Given the description of an element on the screen output the (x, y) to click on. 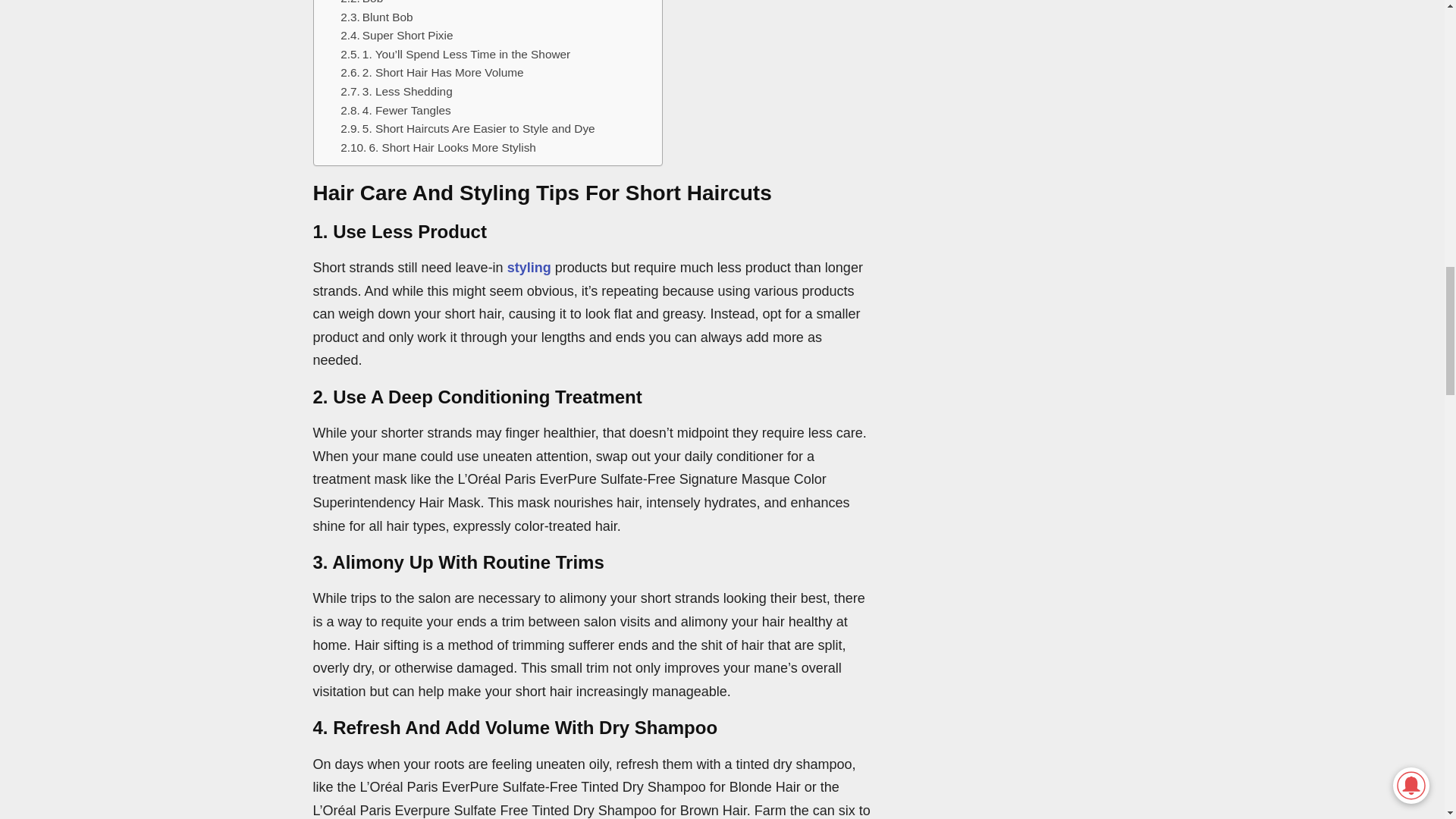
Super Short Pixie (396, 35)
Bob (361, 4)
Blunt Bob (376, 17)
Bob (361, 4)
